Given the description of an element on the screen output the (x, y) to click on. 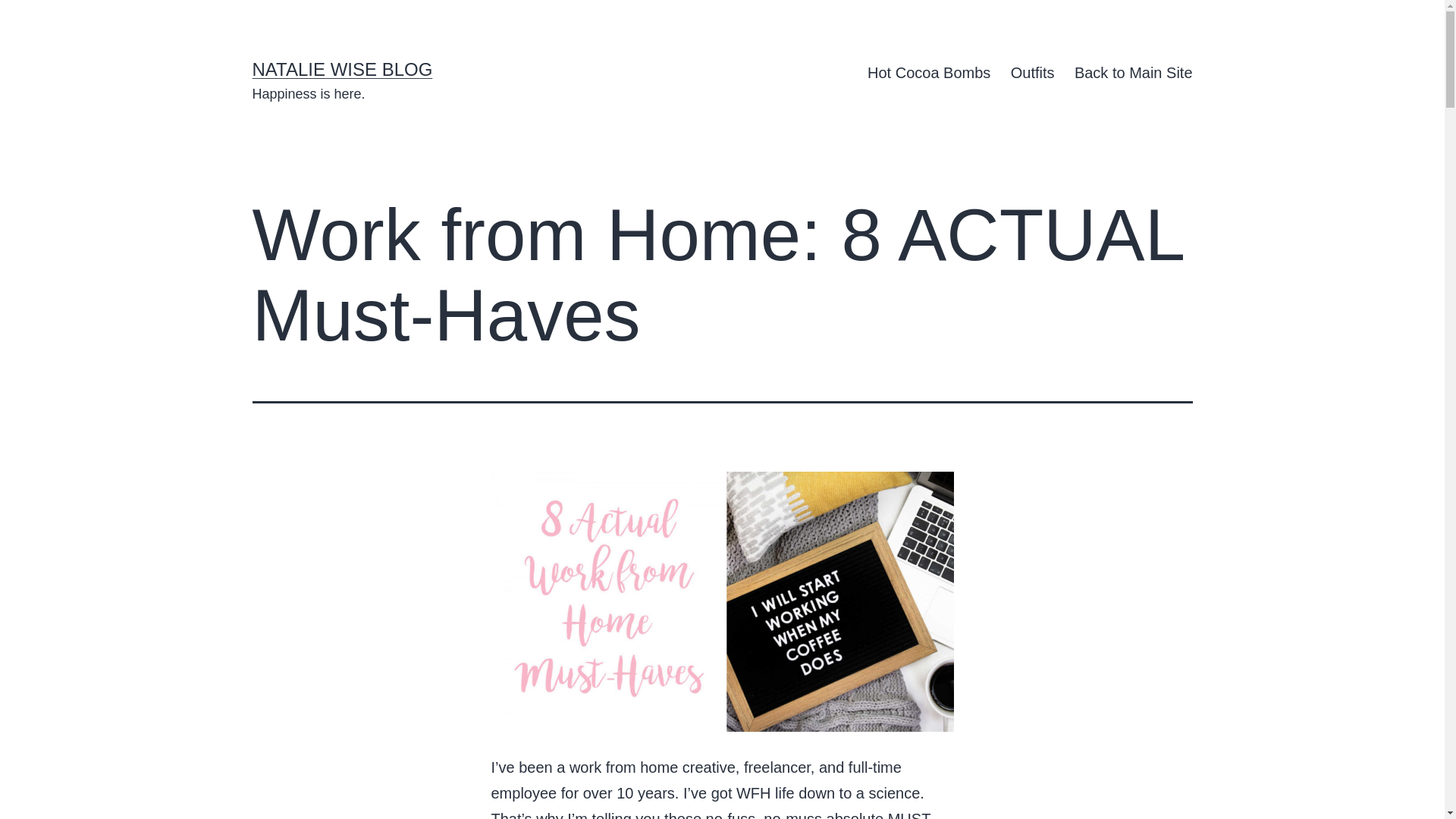
Back to Main Site (1133, 72)
NATALIE WISE BLOG (341, 68)
Outfits (1032, 72)
Hot Cocoa Bombs (929, 72)
